Given the description of an element on the screen output the (x, y) to click on. 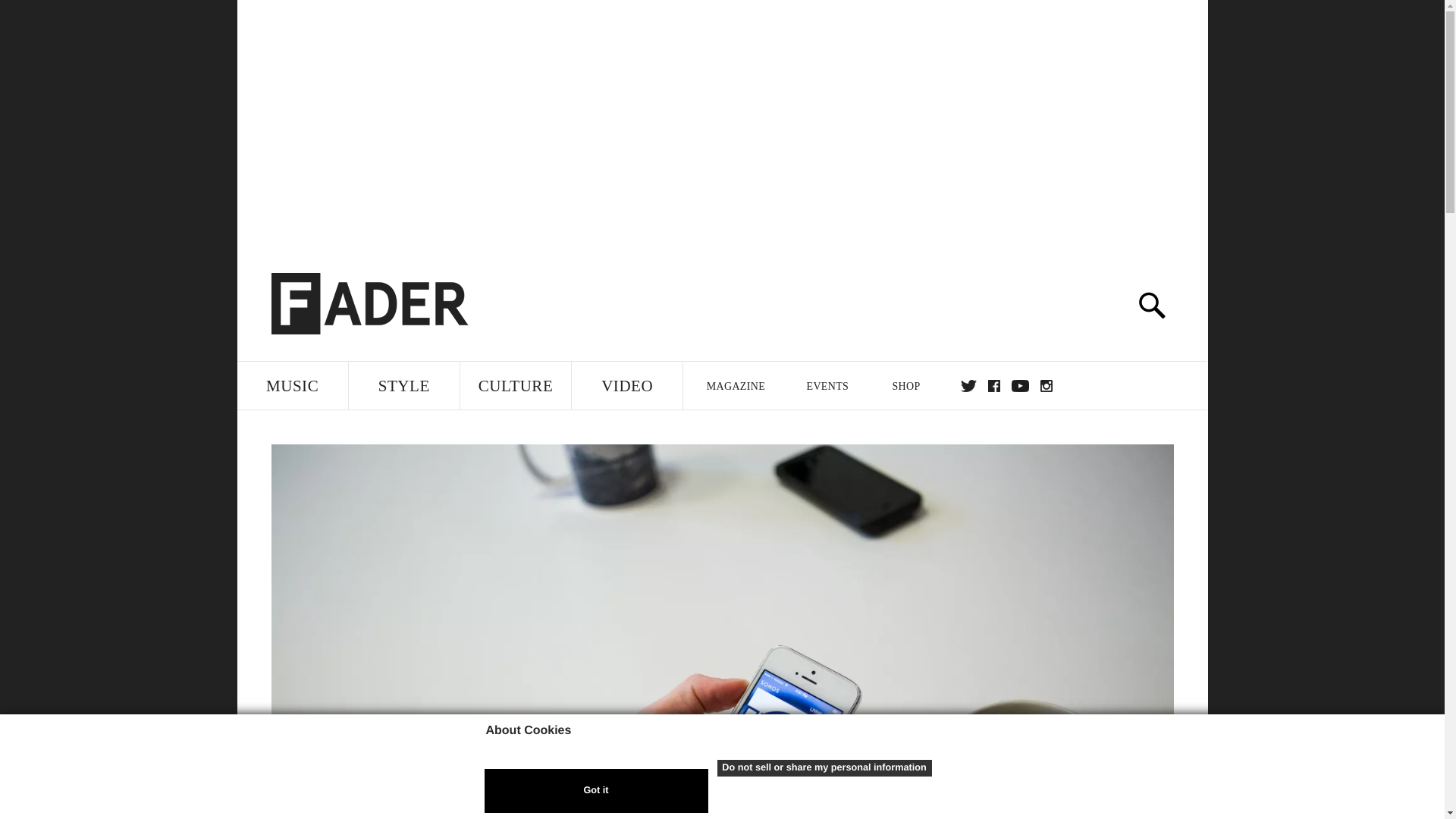
Do not sell or share my personal information (824, 768)
Got it (595, 791)
